Given the description of an element on the screen output the (x, y) to click on. 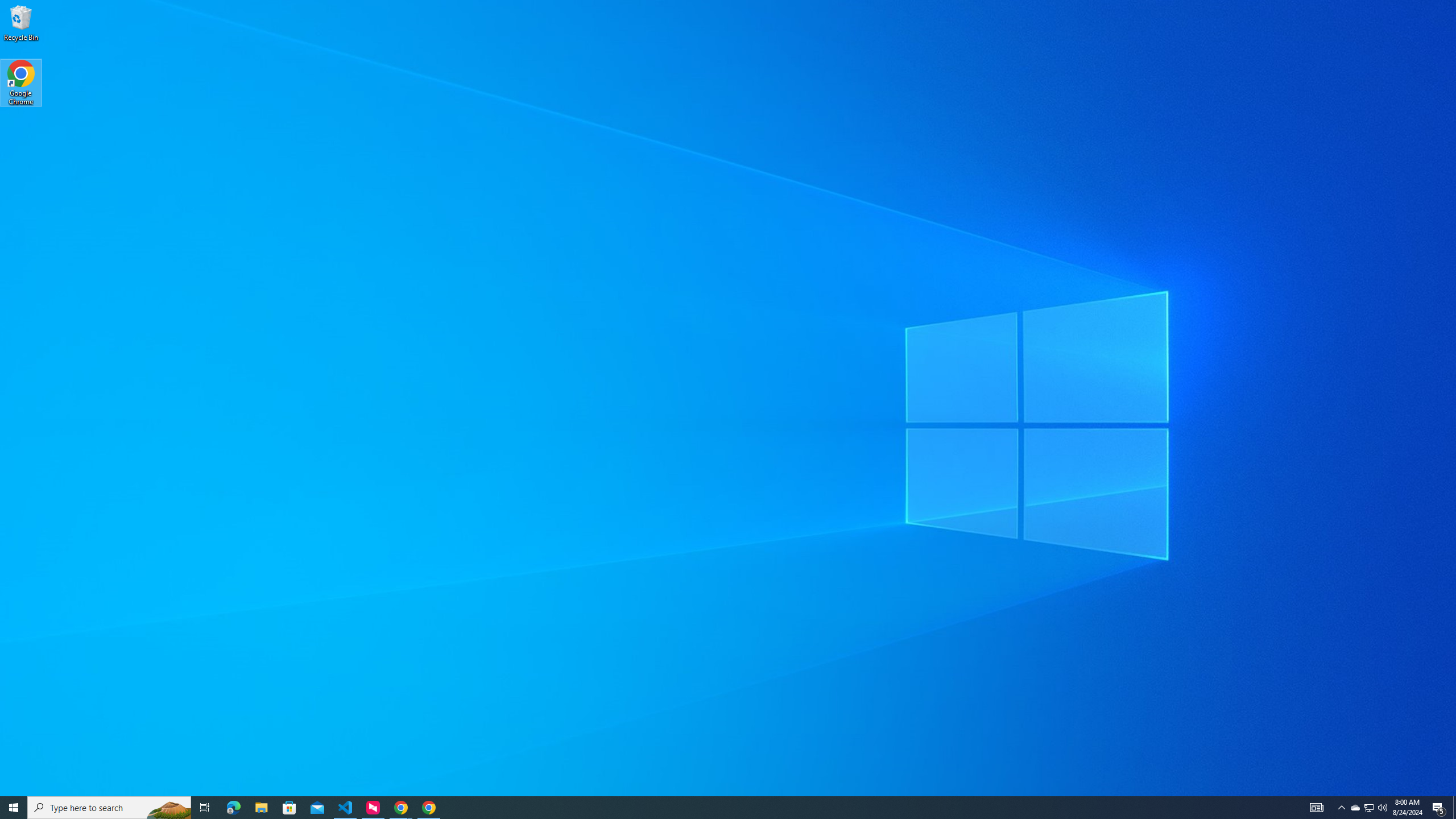
Google Chrome (21, 82)
Recycle Bin (21, 22)
